Given the description of an element on the screen output the (x, y) to click on. 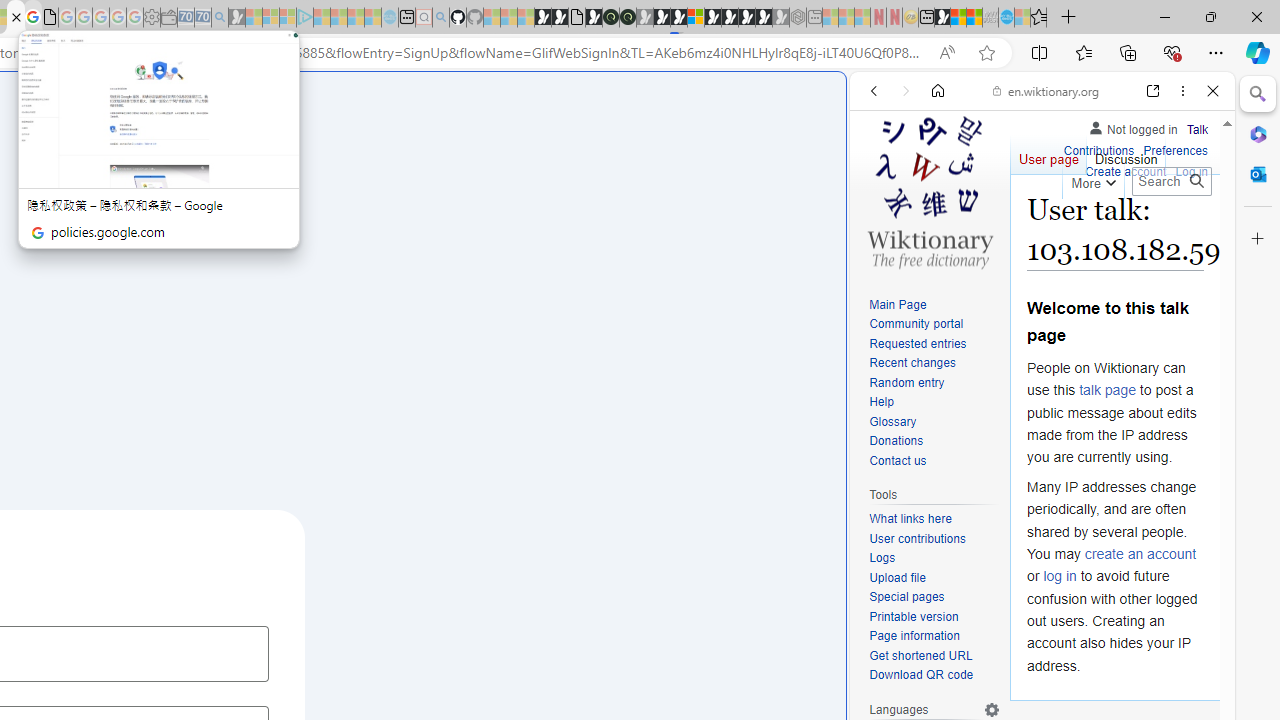
Random entry (906, 382)
en.wiktionary.org (1046, 90)
Logs (882, 557)
Go (1196, 181)
Get shortened URL (934, 655)
Donations (934, 442)
